Given the description of an element on the screen output the (x, y) to click on. 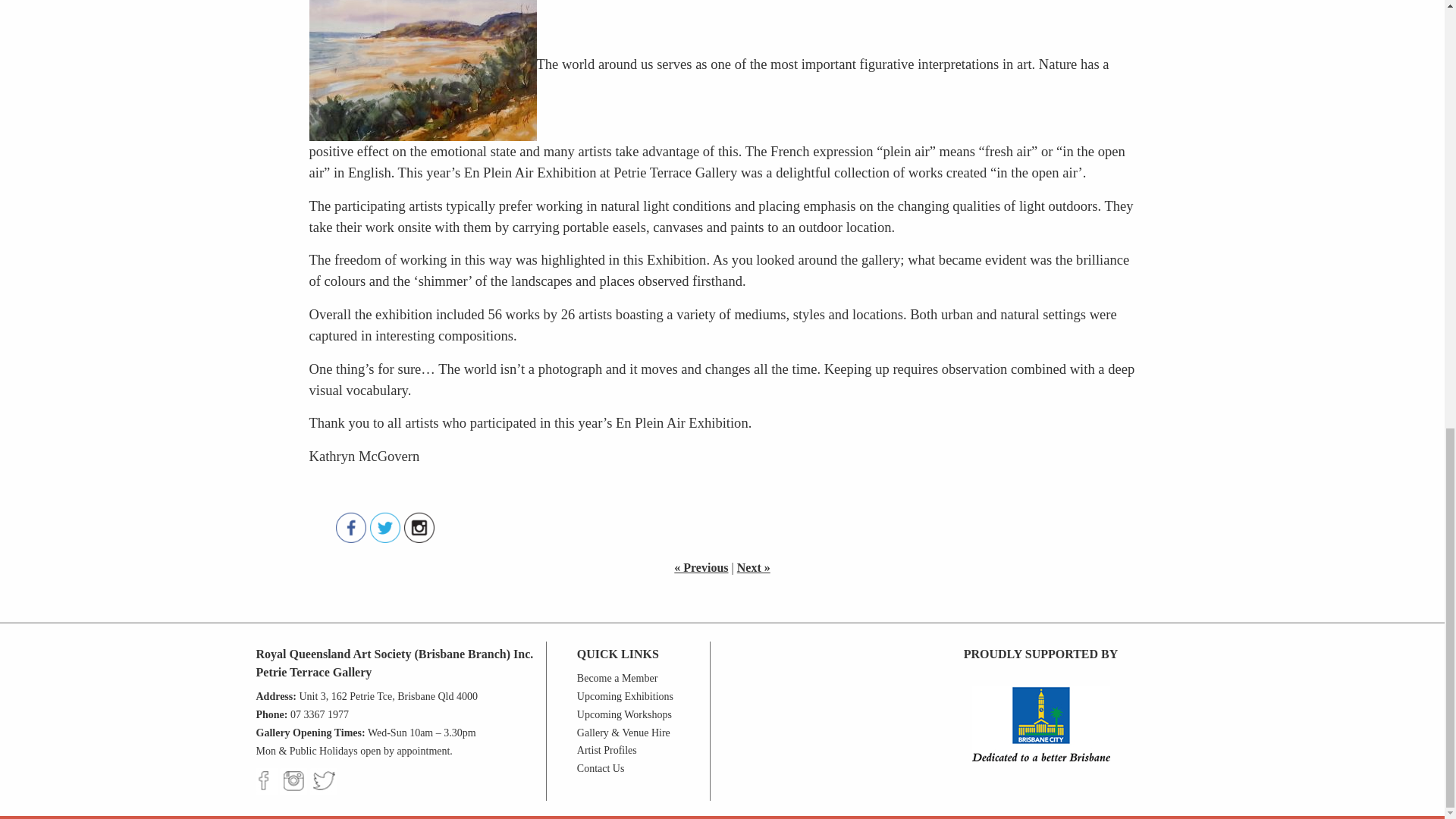
Facebook (349, 527)
Twitter (384, 527)
